Given the description of an element on the screen output the (x, y) to click on. 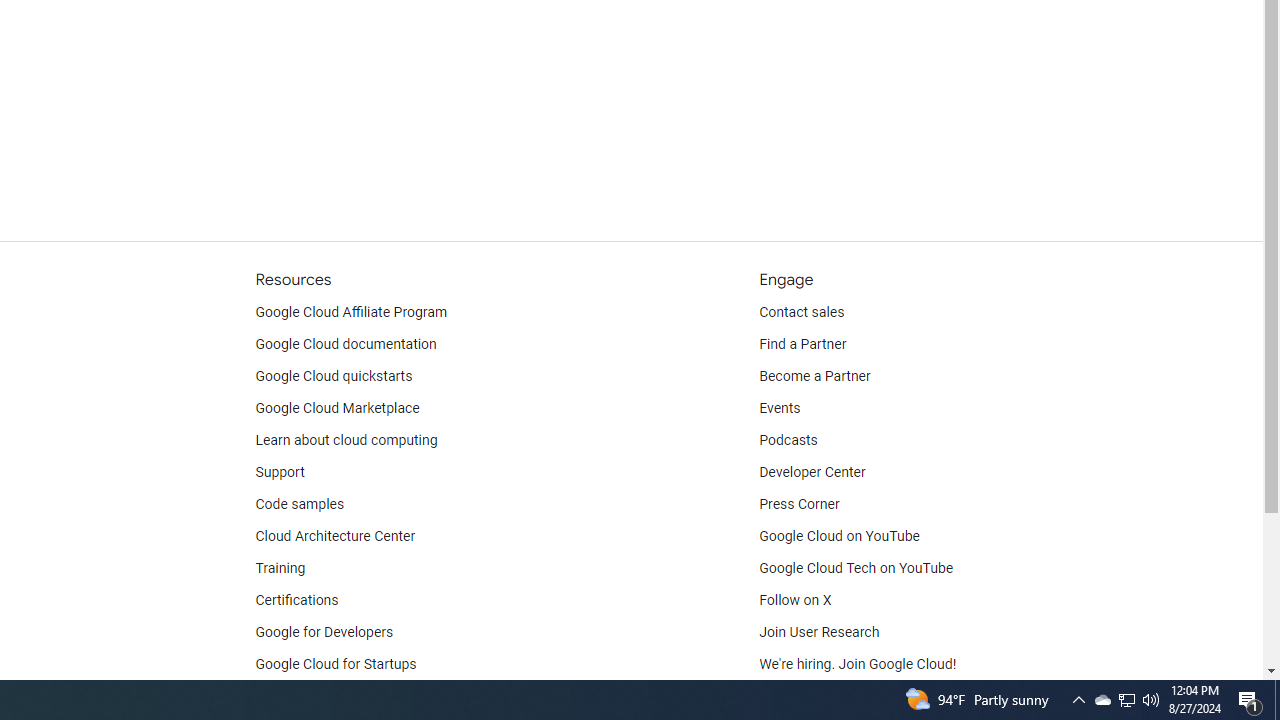
Google for Developers (324, 632)
Find a Partner (803, 344)
Developer Center (812, 472)
Cloud Architecture Center (335, 536)
Training (279, 568)
Google Cloud Marketplace (336, 408)
Google Cloud Tech on YouTube (856, 568)
Podcasts (788, 440)
Google Cloud Affiliate Program (351, 312)
Contact sales (801, 312)
